Given the description of an element on the screen output the (x, y) to click on. 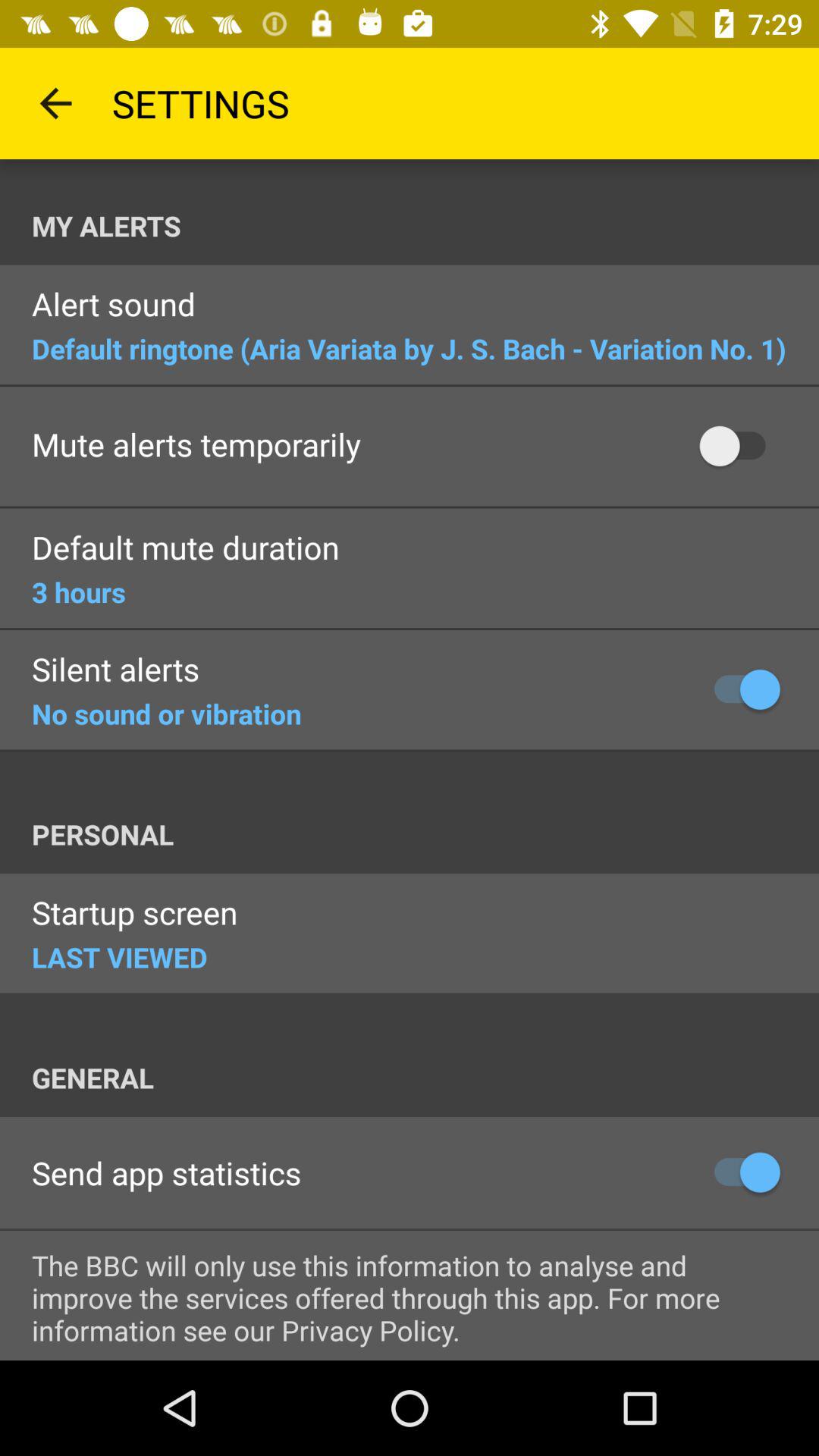
scroll until default mute duration item (185, 549)
